Given the description of an element on the screen output the (x, y) to click on. 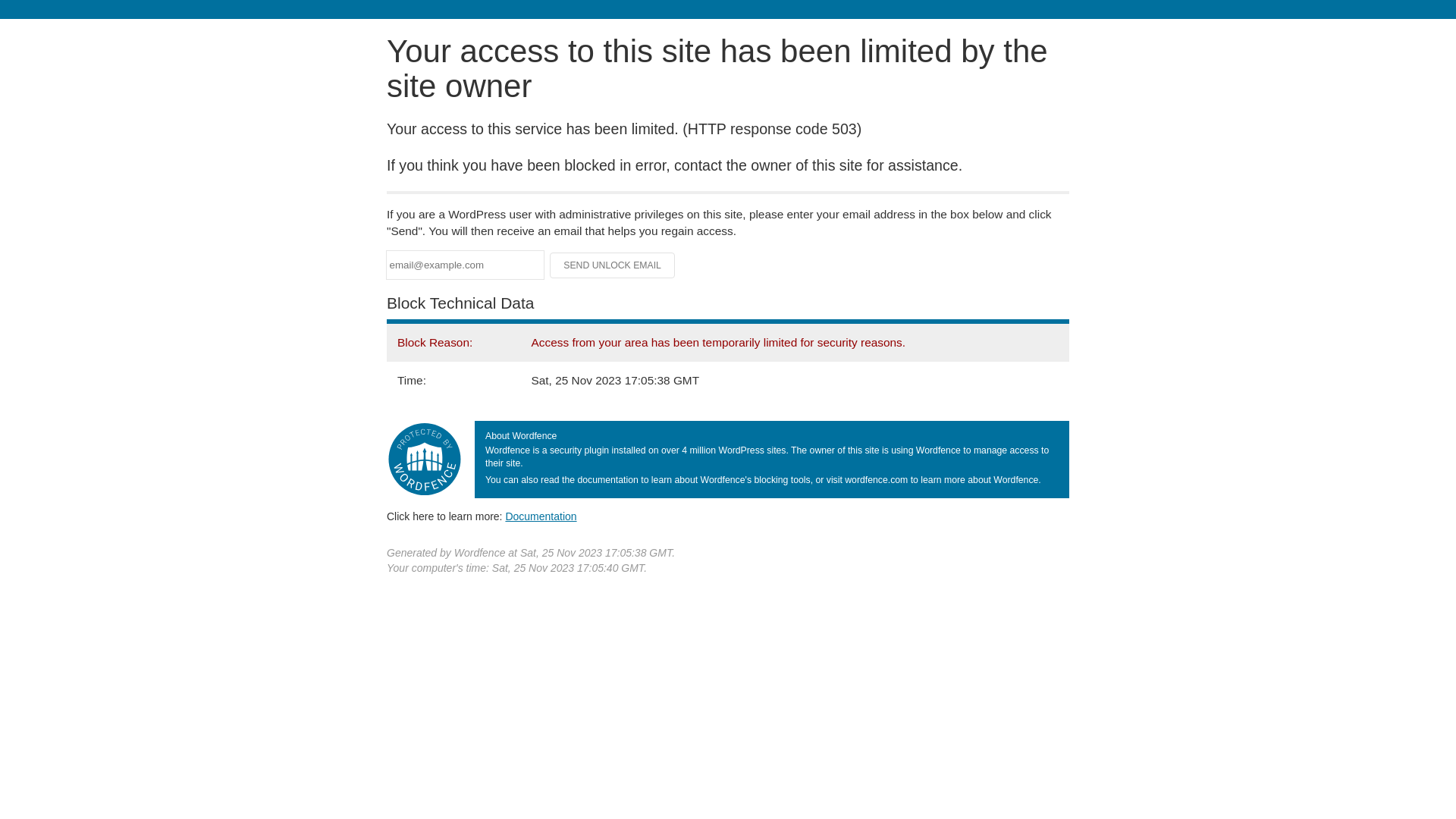
Documentation Element type: text (540, 516)
Send Unlock Email Element type: text (612, 265)
